Given the description of an element on the screen output the (x, y) to click on. 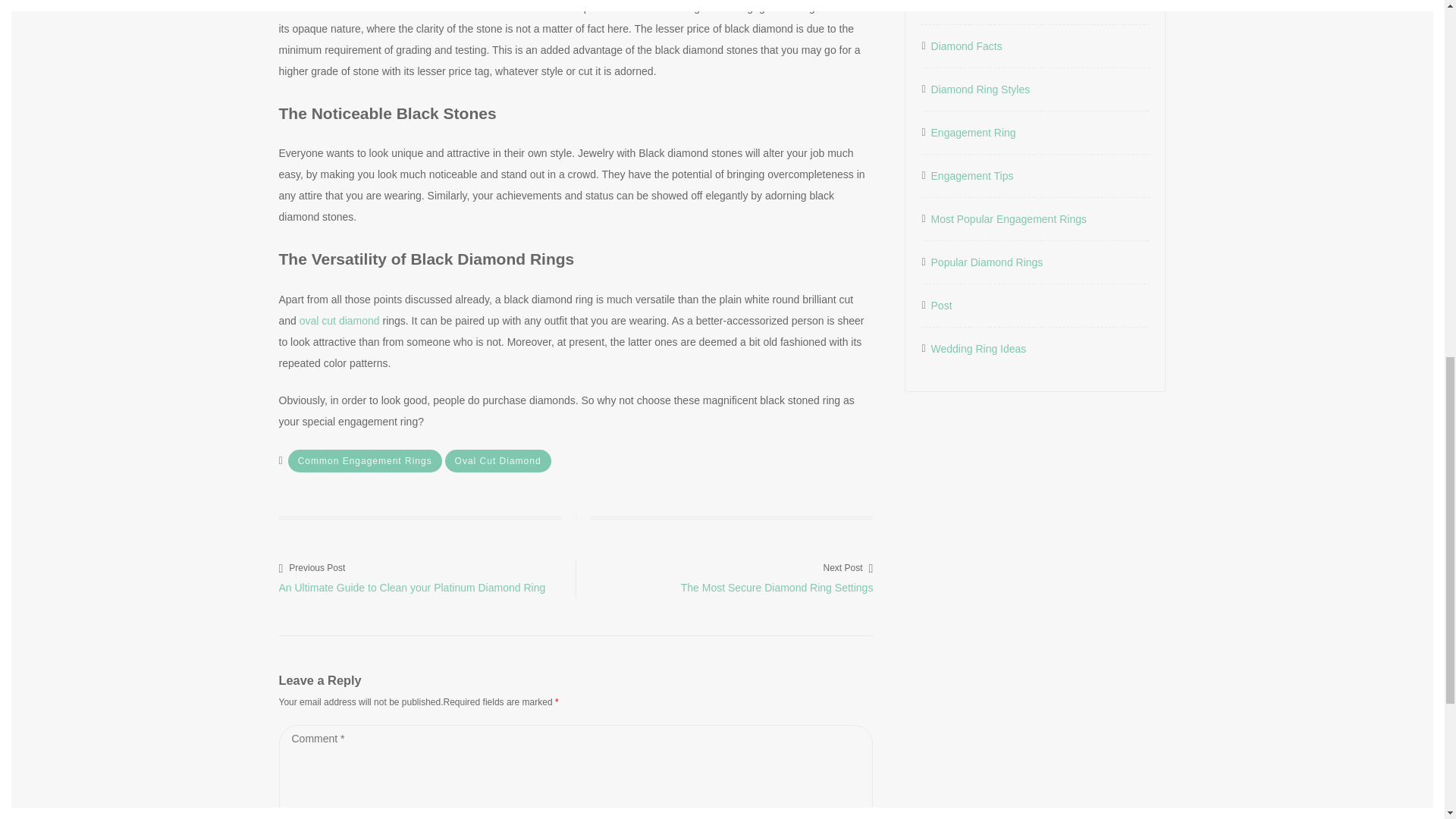
Most Popular Engagement Rings (1008, 219)
Diamond Ring Styles (980, 88)
Wedding Ring Ideas (978, 348)
Engagement Ring (973, 132)
Engagement Tips (972, 175)
Common Engagement Rings (365, 461)
Popular Diamond Rings (987, 261)
oval cut diamond (724, 575)
